Given the description of an element on the screen output the (x, y) to click on. 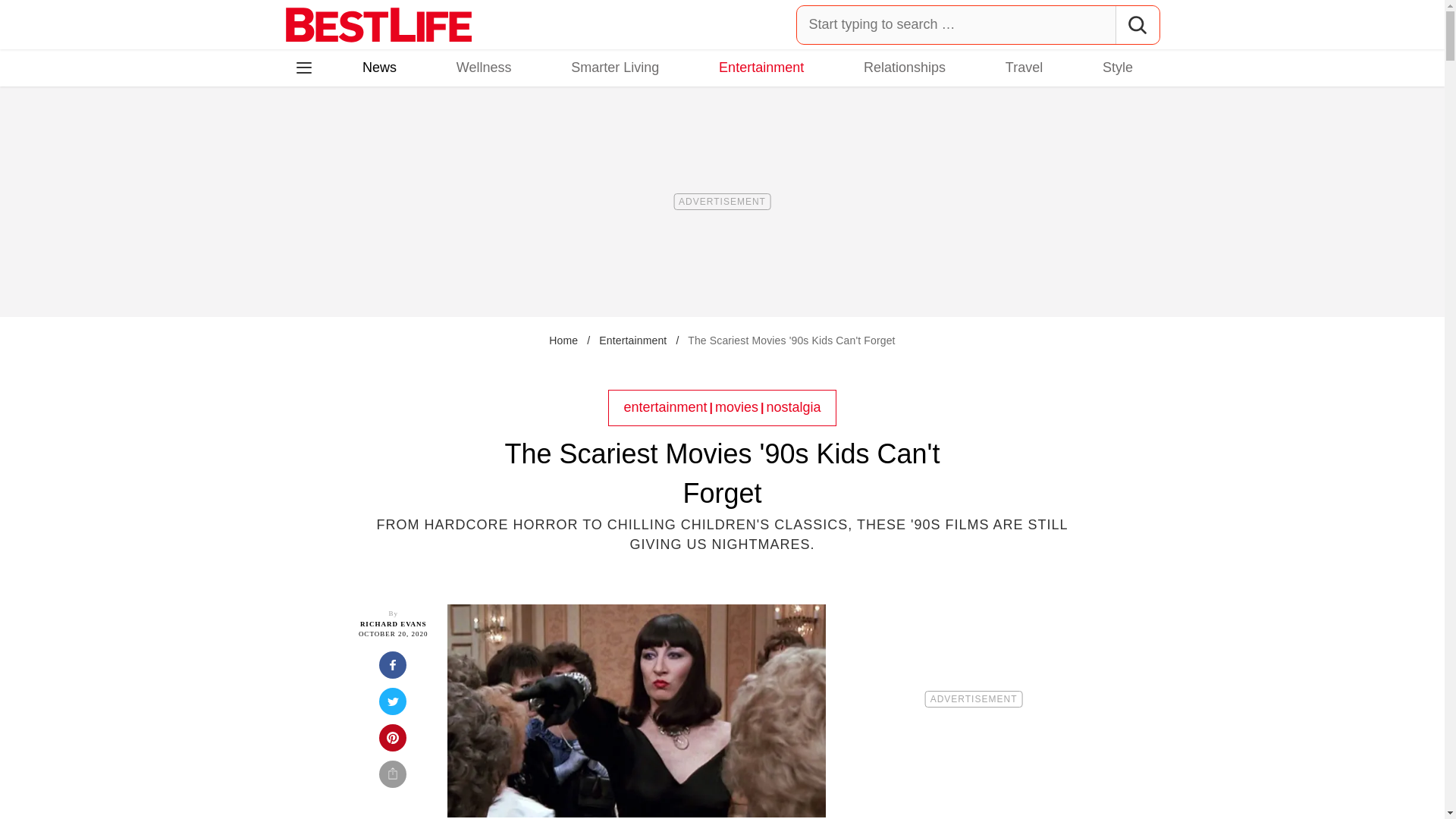
Facebook (314, 133)
Relationships (904, 66)
Share on Facebook (392, 669)
Smarter Living (614, 66)
Entertainment (632, 340)
Travel (1023, 66)
entertainment (665, 406)
Style (1117, 66)
Type and press Enter to search (978, 24)
Best Life Homepage (378, 23)
RICHARD EVANS (392, 623)
Facebook (314, 133)
Share on Twitter (392, 705)
Home (563, 340)
News (379, 66)
